Given the description of an element on the screen output the (x, y) to click on. 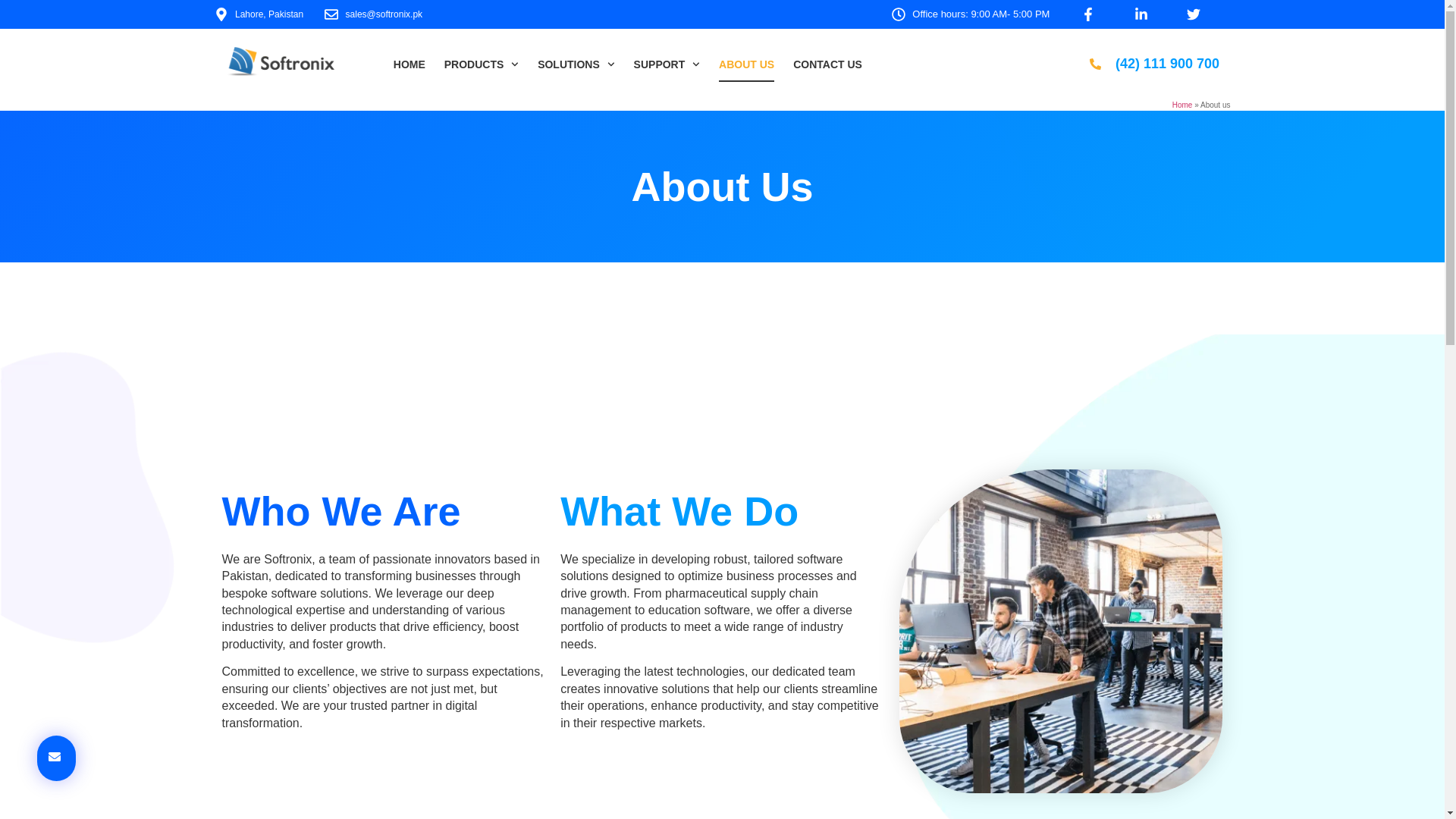
SUPPORT (666, 63)
PRODUCTS (481, 63)
CONTACT US (827, 63)
ABOUT US (746, 63)
SOLUTIONS (575, 63)
HOME (409, 63)
